Given the description of an element on the screen output the (x, y) to click on. 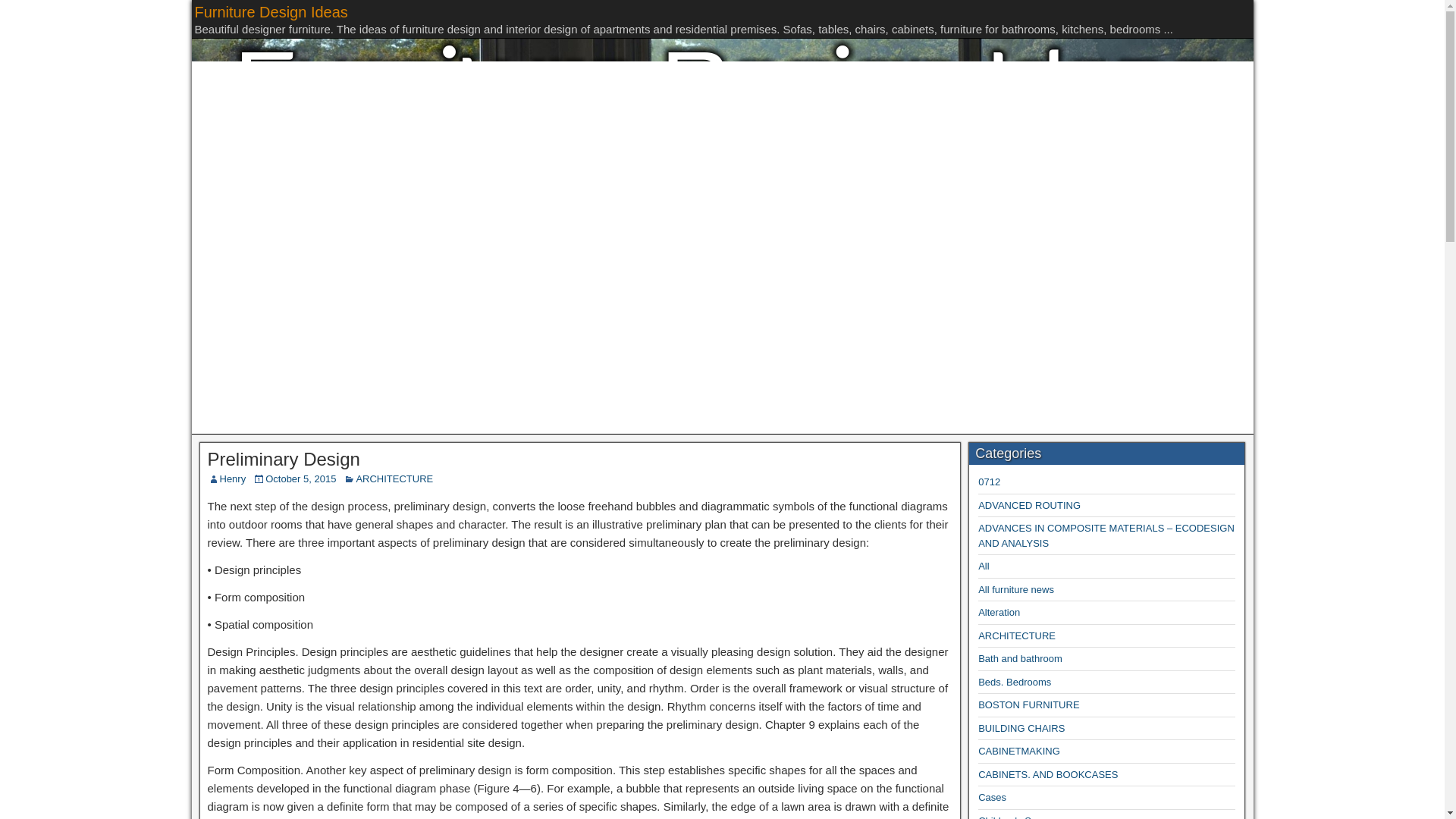
Children's Spaces (1017, 816)
Furniture Design Ideas (270, 12)
All (983, 565)
Bath and bathroom (1020, 658)
ARCHITECTURE (1016, 635)
October 5, 2015 (300, 478)
BUILDING CHAIRS (1021, 727)
0712 (989, 481)
CABINETS. AND BOOKCASES (1048, 774)
CABINETMAKING (1018, 750)
